Given the description of an element on the screen output the (x, y) to click on. 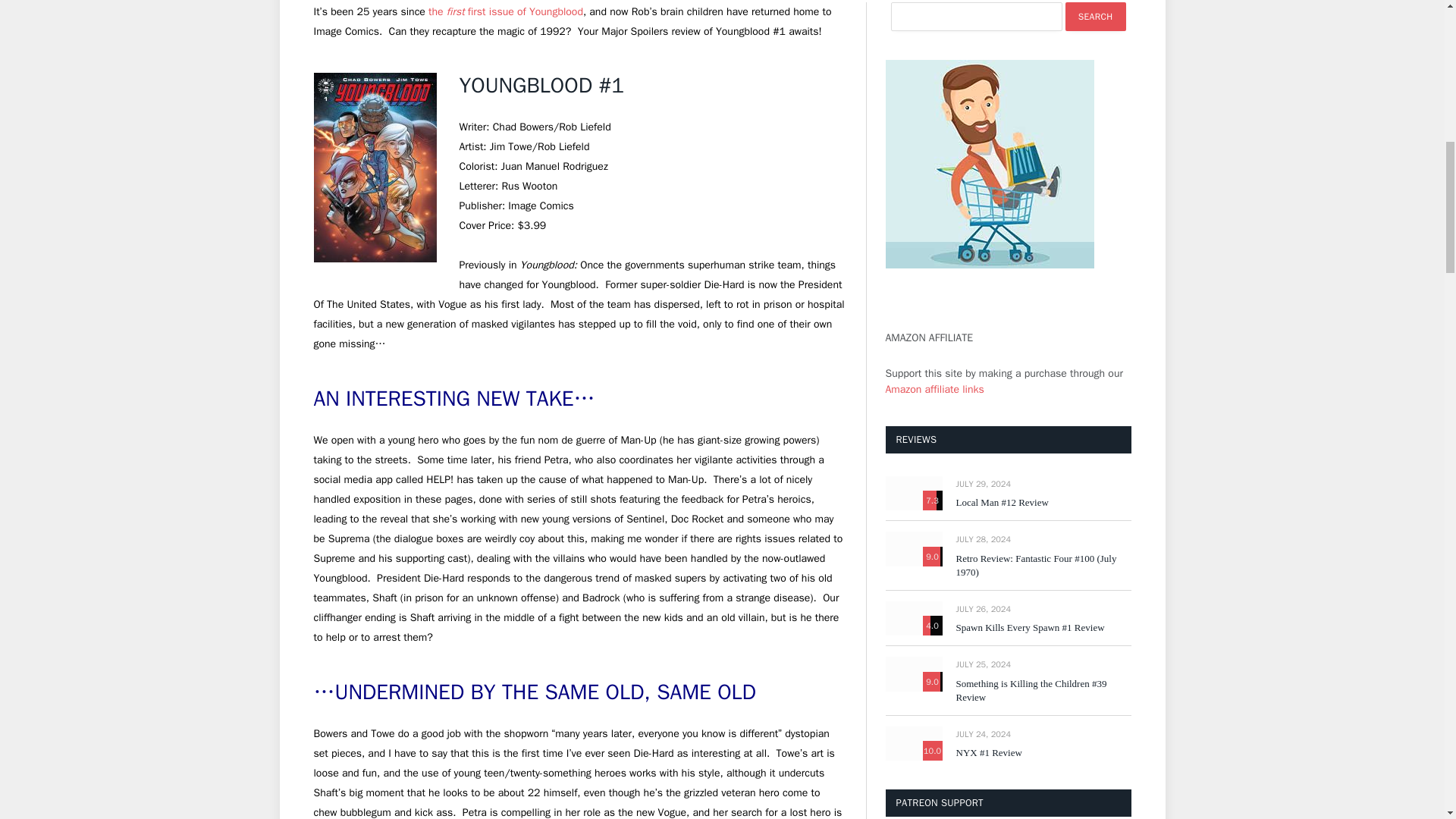
Search (1095, 16)
